Given the description of an element on the screen output the (x, y) to click on. 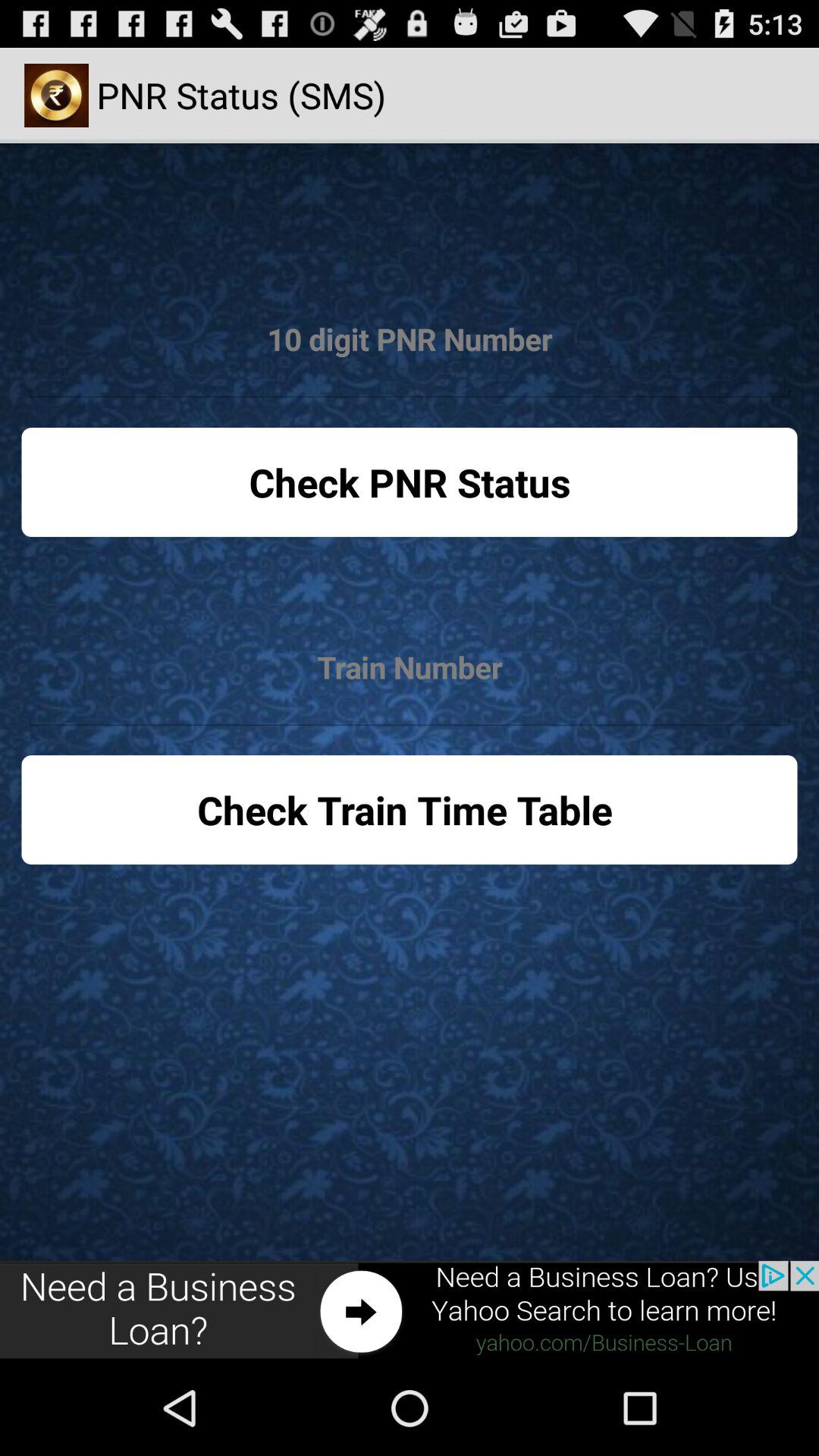
click on advertisement to external website (409, 1310)
